Given the description of an element on the screen output the (x, y) to click on. 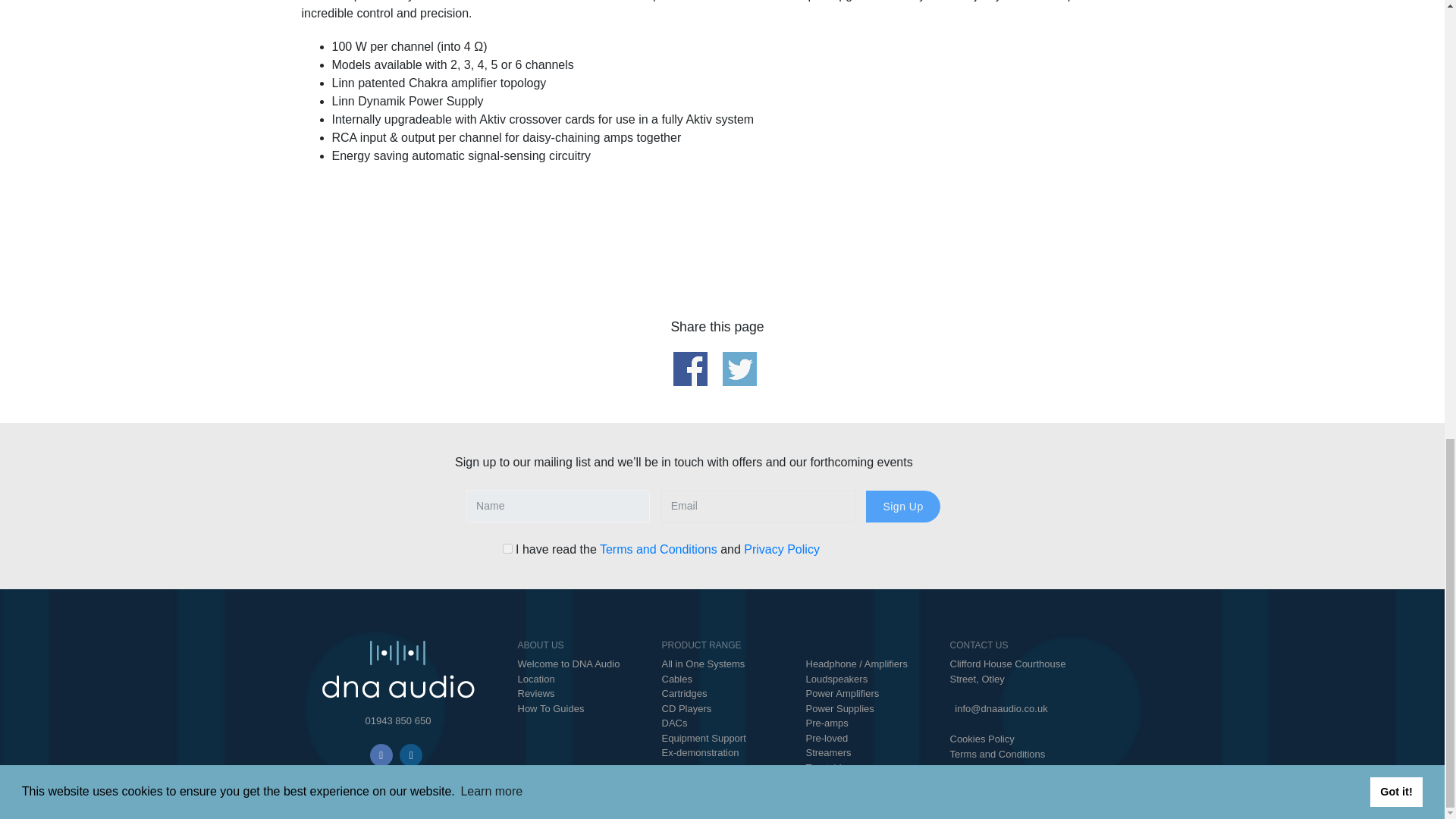
check (507, 548)
